Given the description of an element on the screen output the (x, y) to click on. 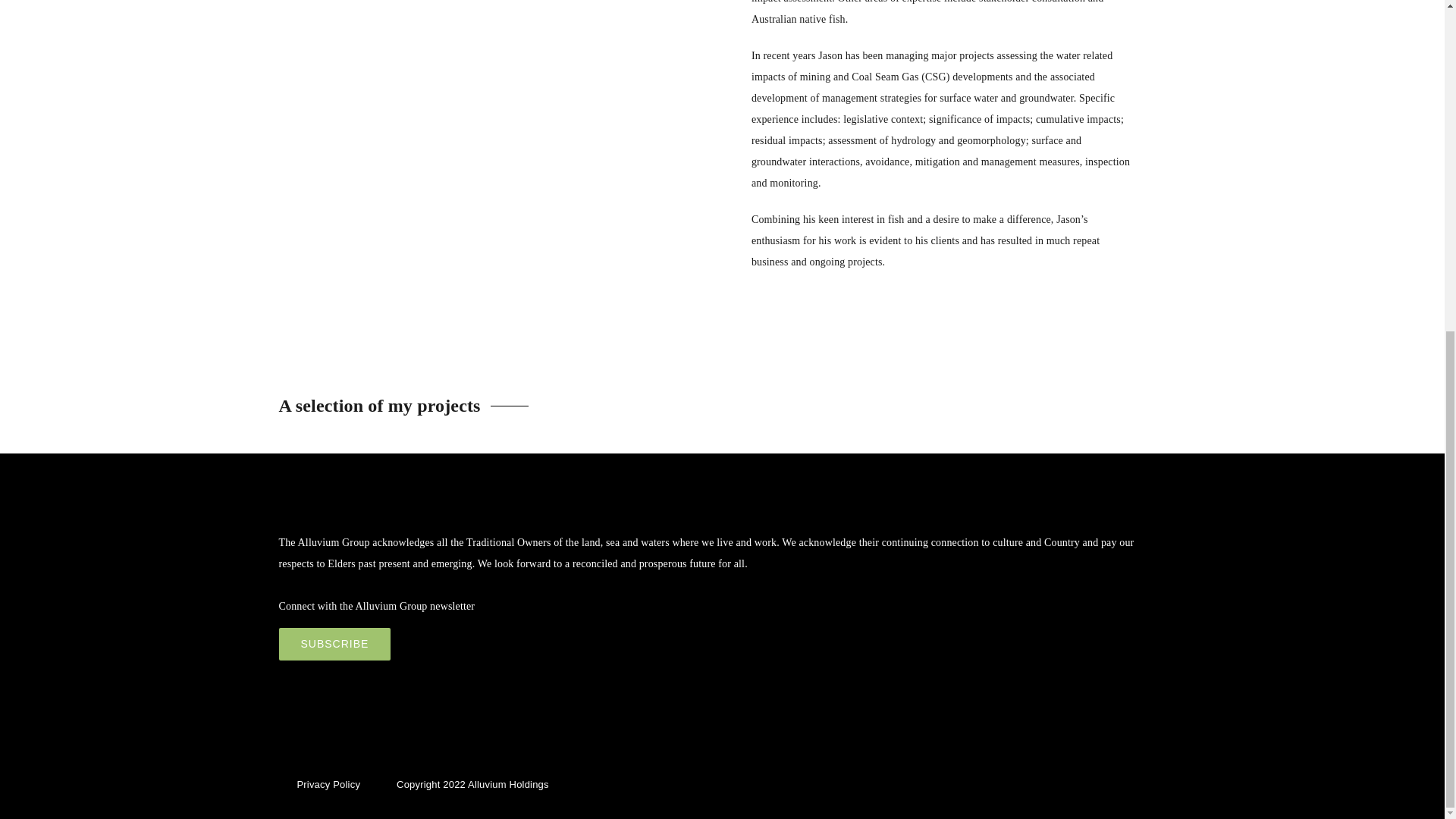
Connect with the Alluvium Group newsletter (335, 644)
SUBSCRIBE (335, 644)
Privacy Policy (328, 784)
